Given the description of an element on the screen output the (x, y) to click on. 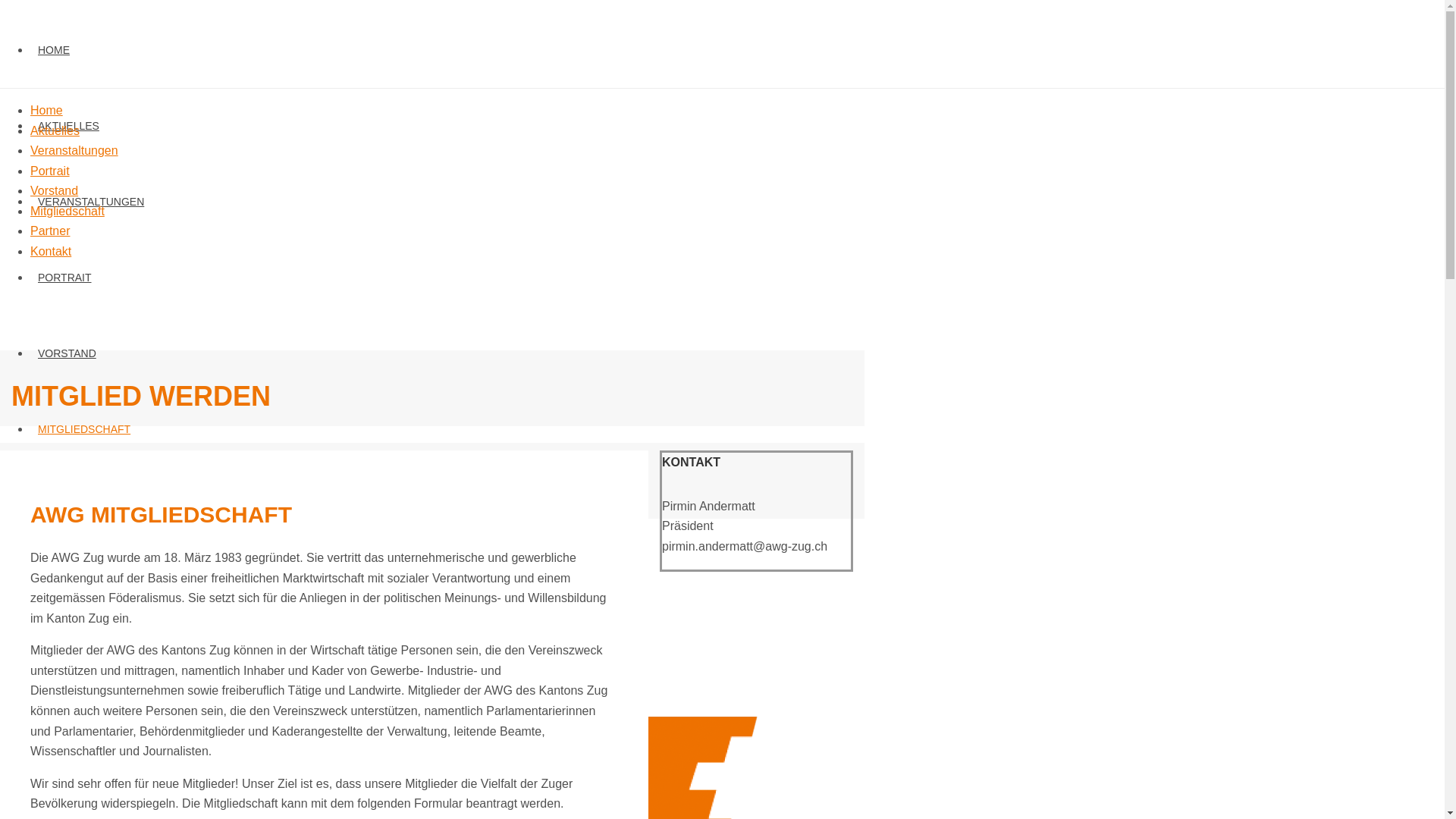
PARTNER Element type: text (62, 504)
KONTAKT Element type: text (62, 580)
Kontakt Element type: text (50, 250)
MITGLIEDSCHAFT Element type: text (84, 429)
HOME Element type: text (53, 49)
Mitgliedschaft Element type: text (67, 210)
Home Element type: text (46, 109)
Portrait Element type: text (49, 170)
AKTUELLES Element type: text (68, 125)
PORTRAIT Element type: text (64, 277)
Aktuelles Element type: text (54, 130)
Veranstaltungen Element type: text (74, 150)
VERANSTALTUNGEN Element type: text (90, 201)
VORSTAND Element type: text (66, 353)
Vorstand Element type: text (54, 190)
Partner Element type: text (49, 230)
